Given the description of an element on the screen output the (x, y) to click on. 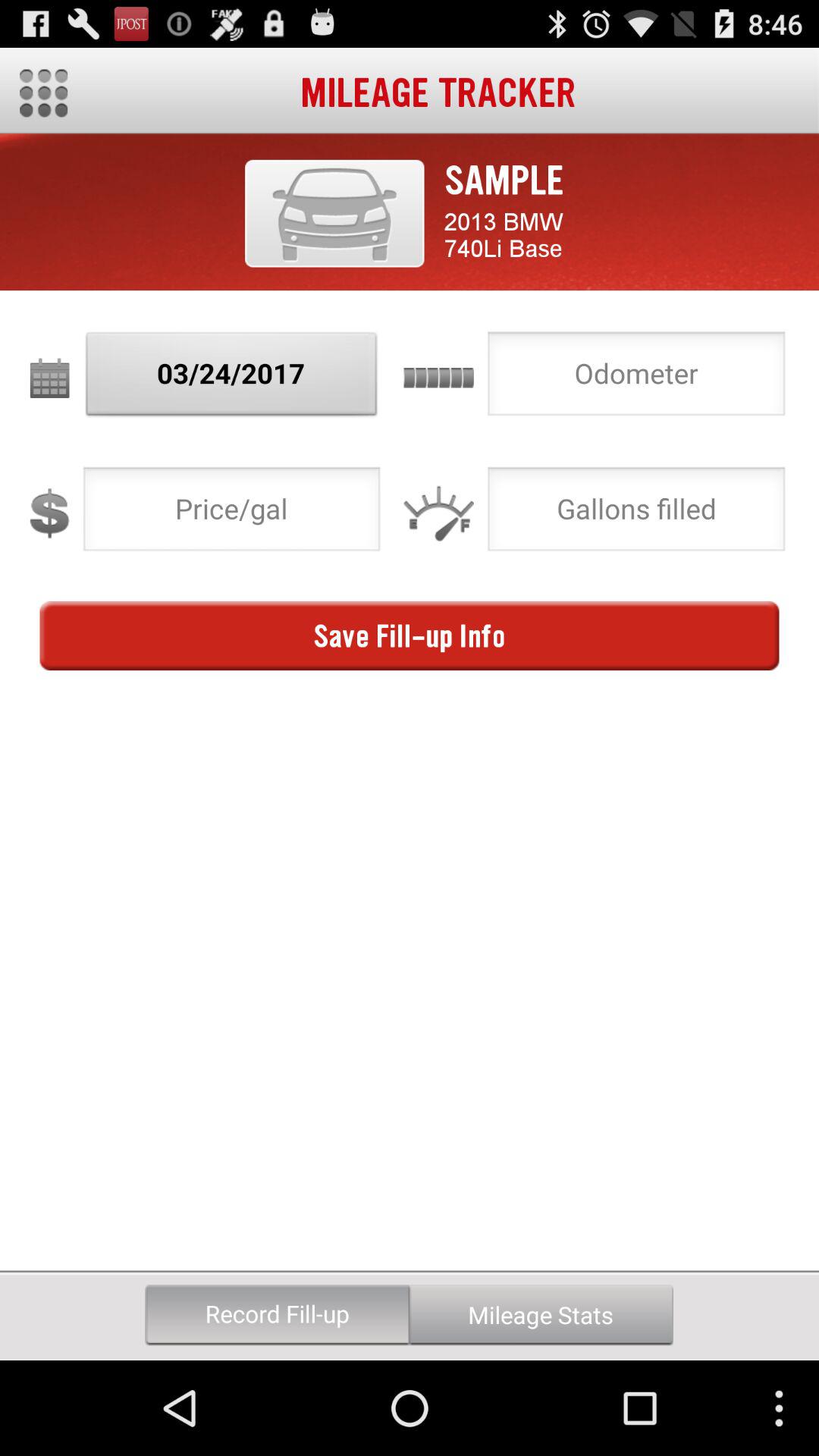
choose option (636, 513)
